Given the description of an element on the screen output the (x, y) to click on. 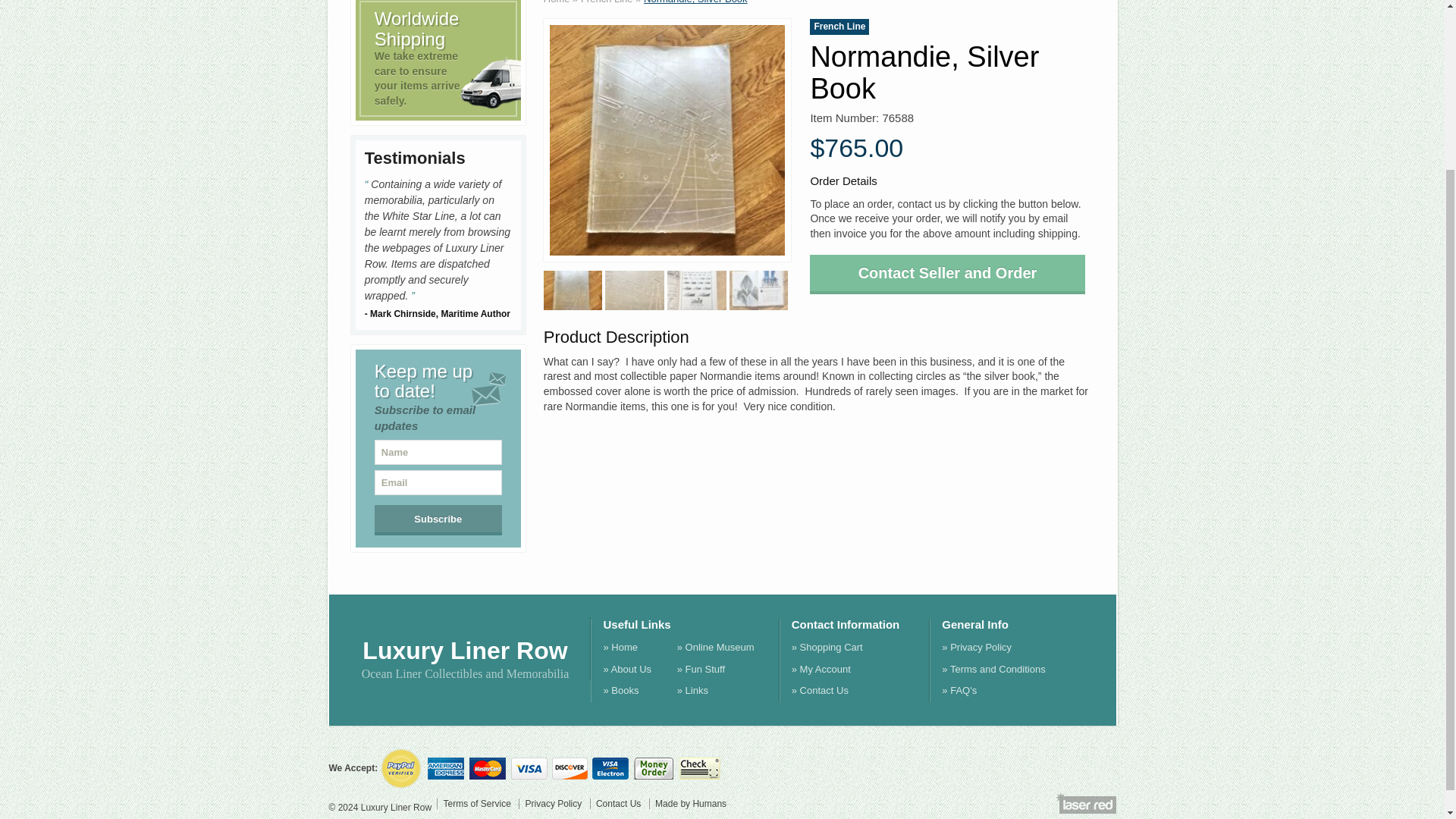
Subscribe (438, 520)
French Line (606, 2)
Home (556, 2)
Website by Laser Red (1085, 803)
Subscribe (438, 520)
